Given the description of an element on the screen output the (x, y) to click on. 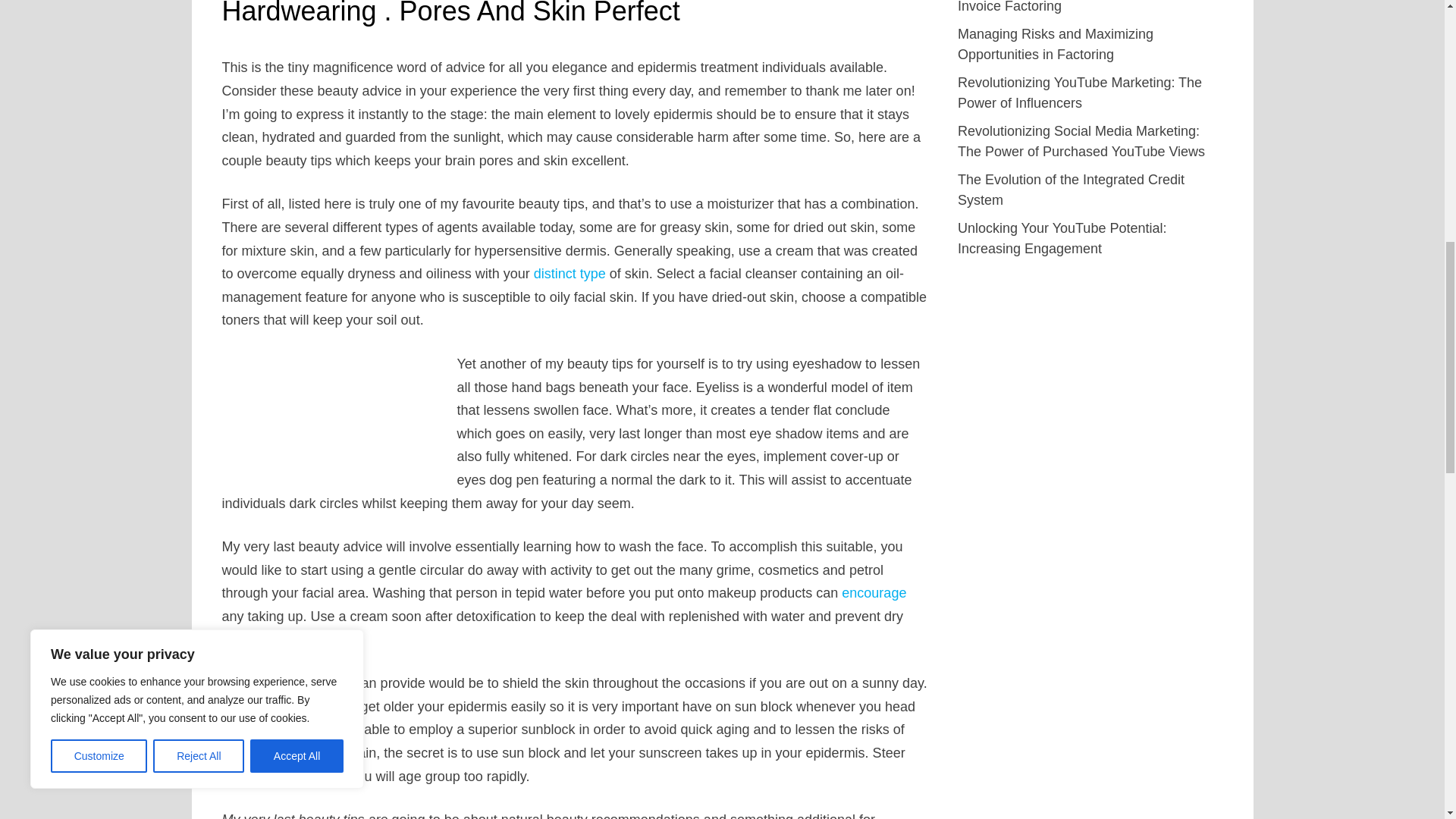
encourage (873, 592)
distinct type (569, 273)
